Given the description of an element on the screen output the (x, y) to click on. 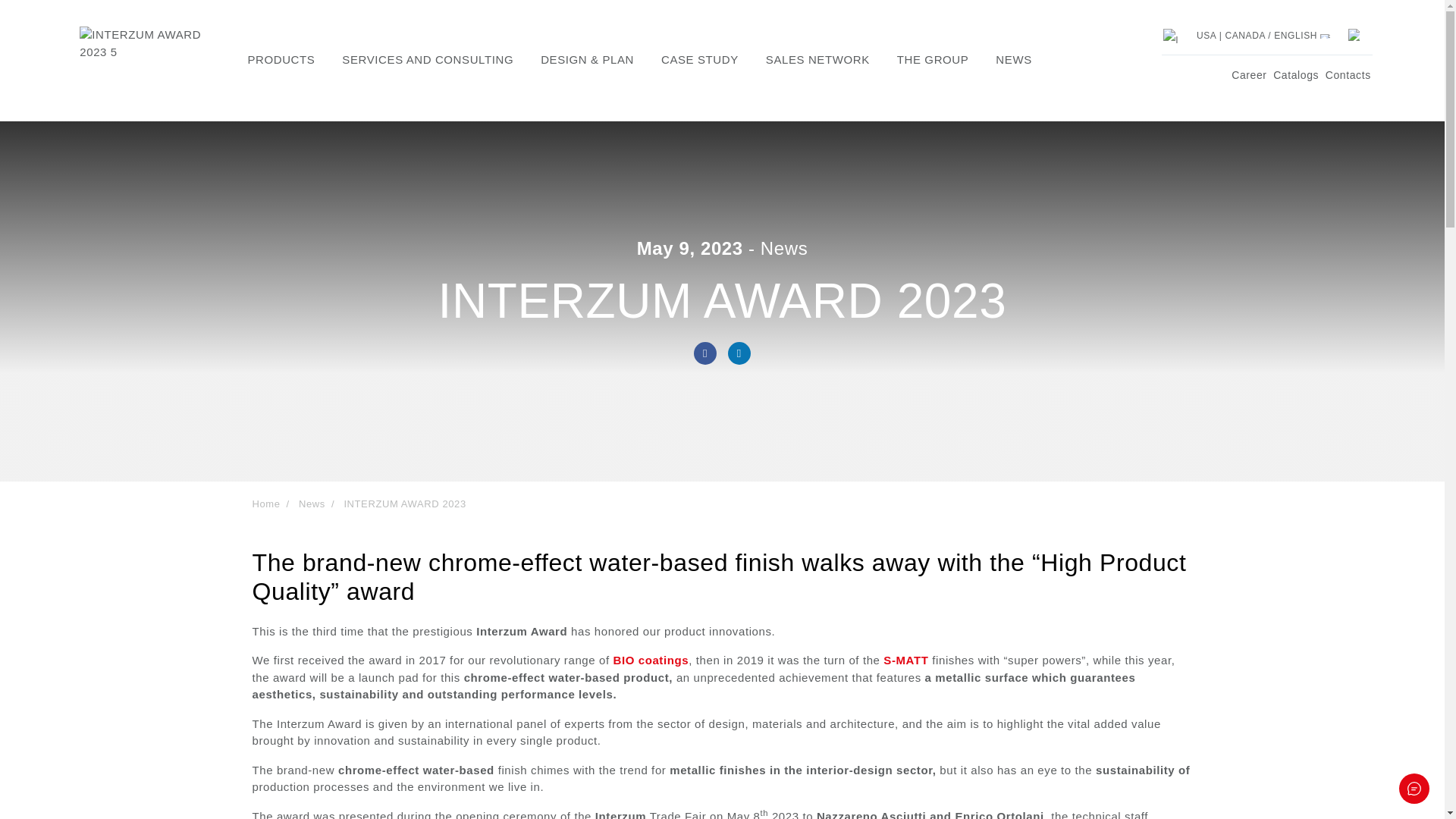
PRODUCTS (280, 60)
